Given the description of an element on the screen output the (x, y) to click on. 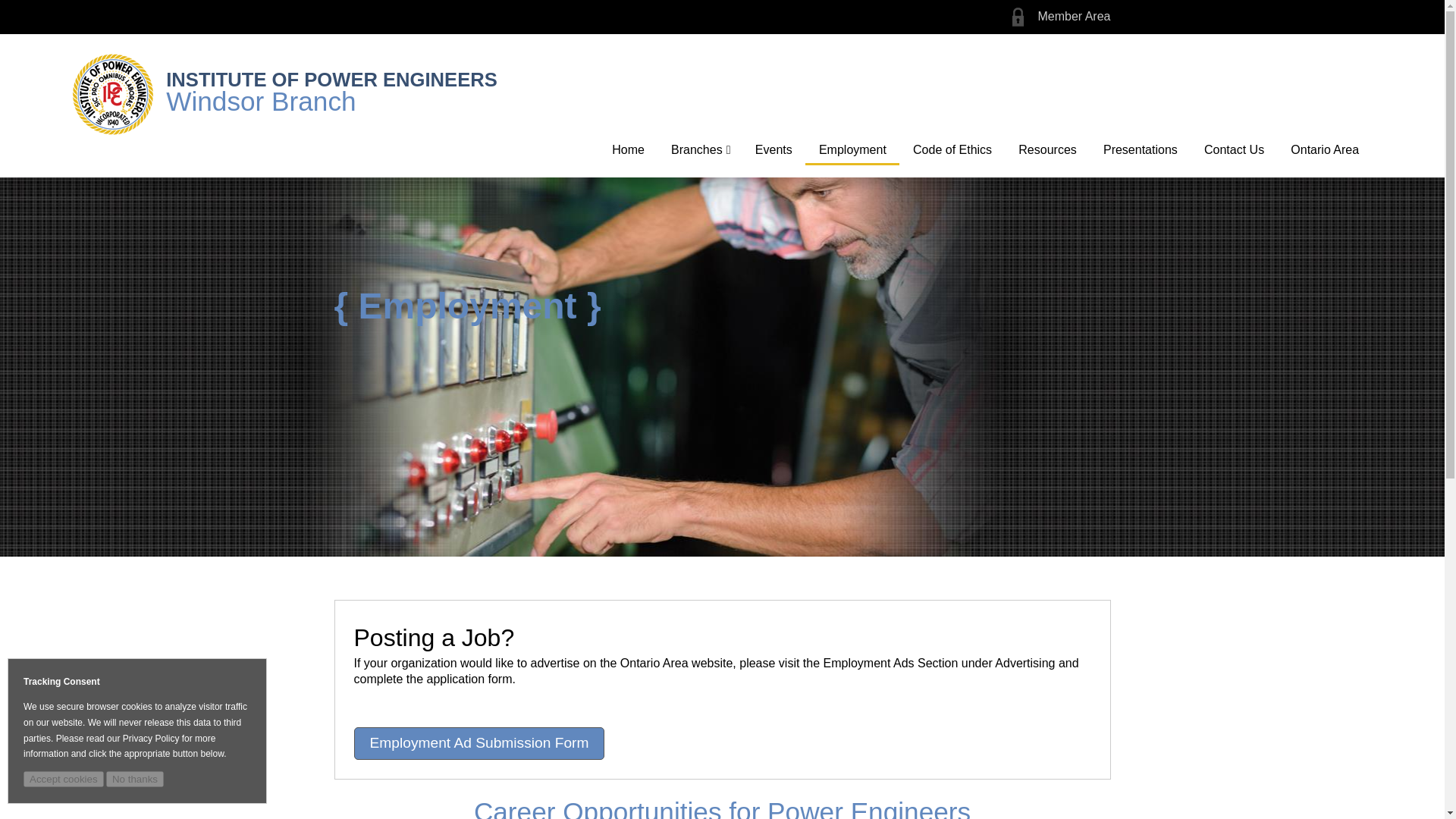
Presentations (1140, 148)
Accept cookies (63, 779)
Code of Ethics (951, 148)
Ontario Area (1325, 148)
Employment Ad Submission Form (478, 743)
Employment Ad Submission Form (478, 743)
Institute of Power Engineers (112, 94)
Branches (699, 148)
Events (773, 148)
Resources (1048, 148)
Home (628, 148)
No thanks (134, 779)
Contact Us (1233, 148)
Member Area (1072, 15)
Employment (852, 150)
